Given the description of an element on the screen output the (x, y) to click on. 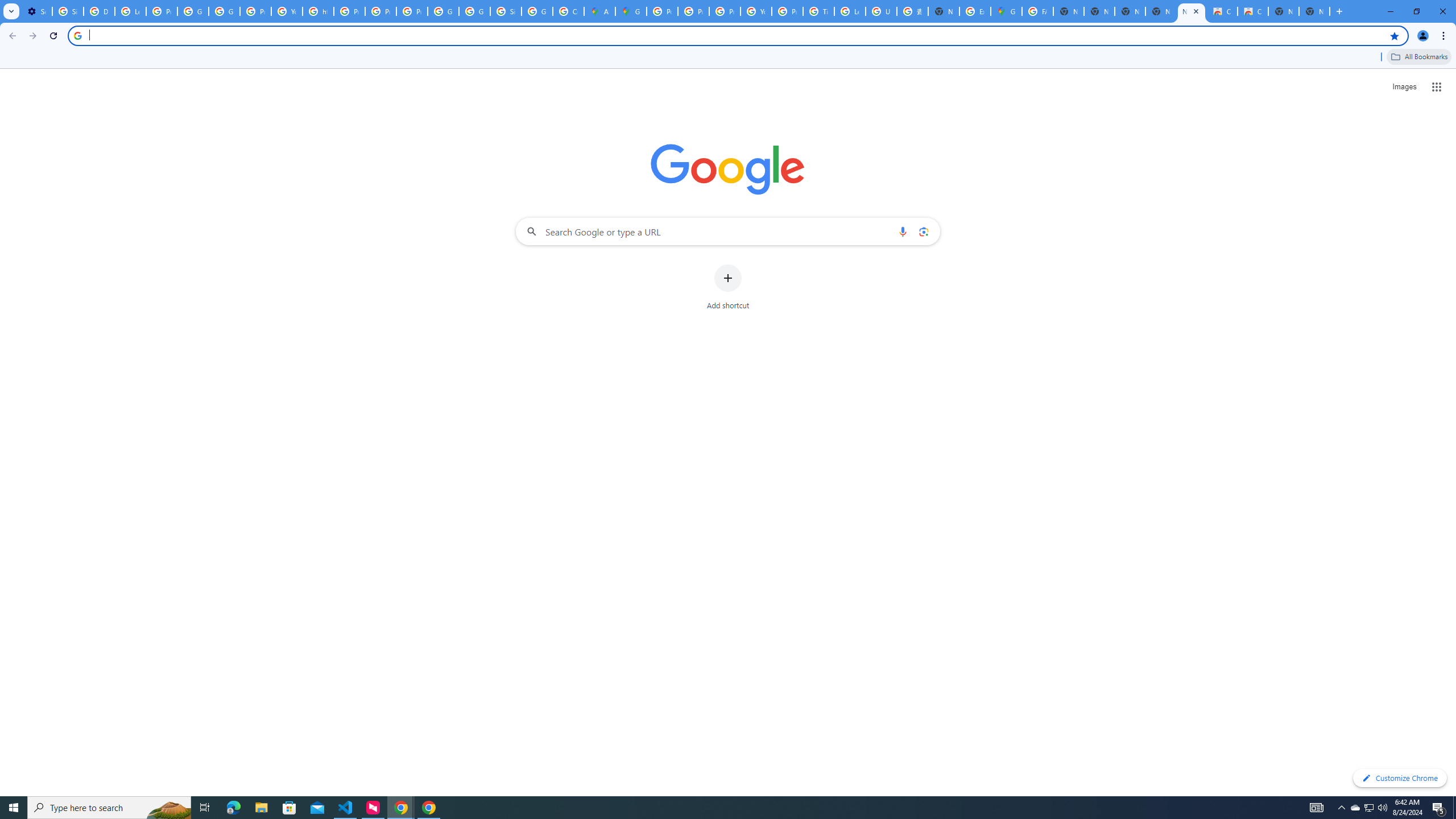
New Tab (1314, 11)
Google Account Help (192, 11)
